Given the description of an element on the screen output the (x, y) to click on. 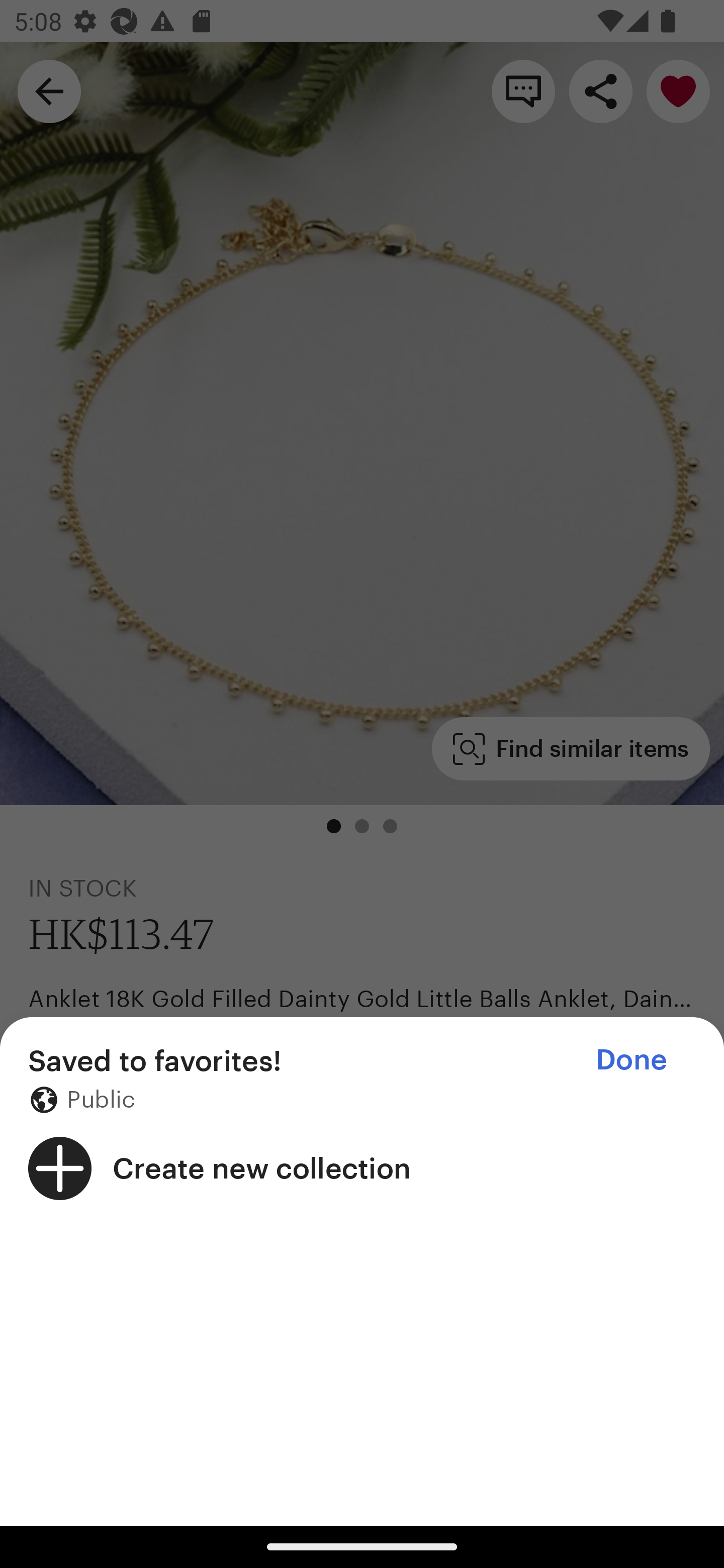
Done (630, 1059)
Create new collection (361, 1167)
